Given the description of an element on the screen output the (x, y) to click on. 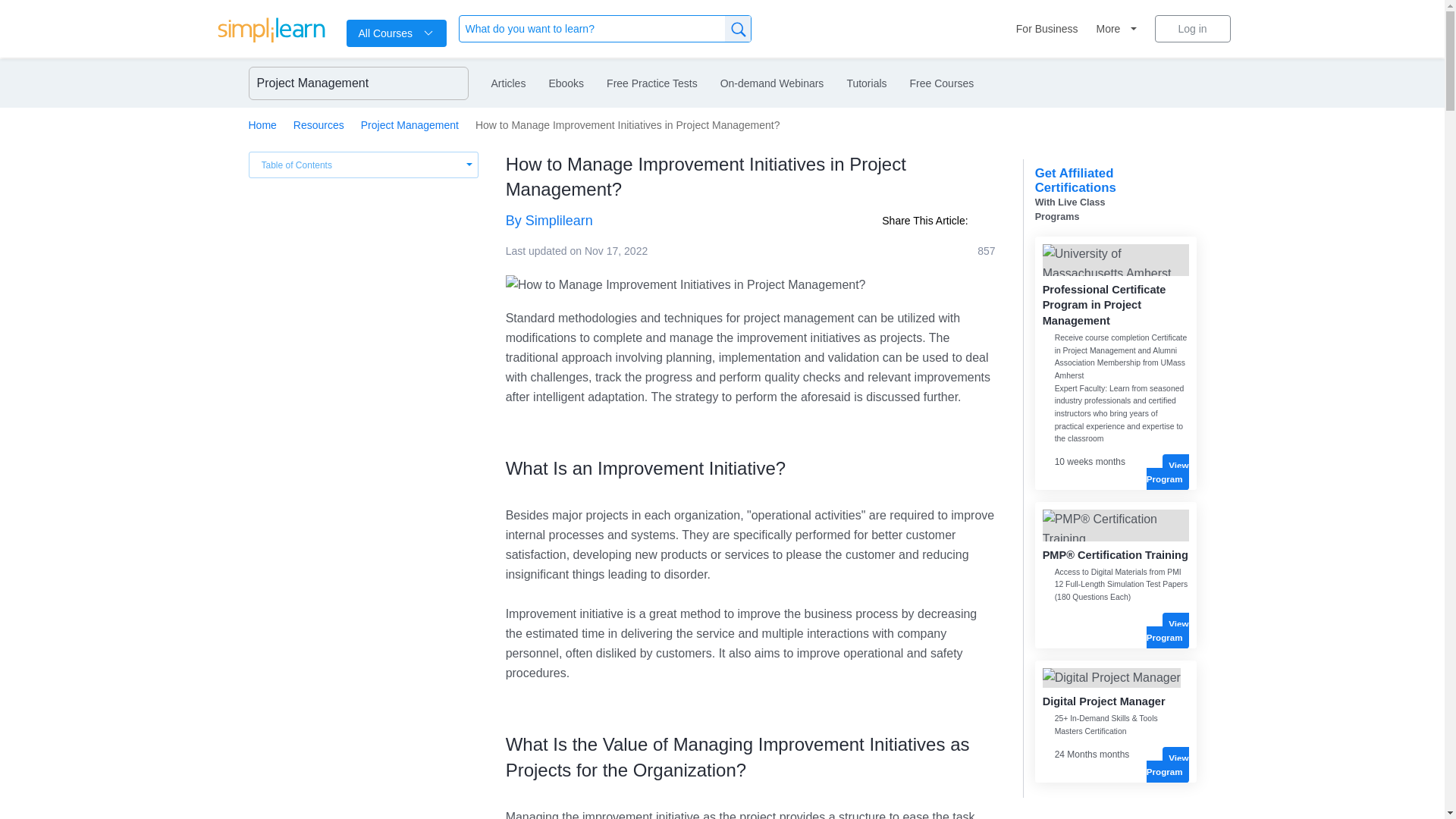
Simplilearn - Online Certification Training Course Provider (270, 32)
Home (262, 124)
Resources (318, 124)
On-demand Webinars (772, 82)
How to Manage Improvement Initiatives in Project Management? (685, 284)
Ebooks (565, 82)
Simplilearn for Business (1047, 28)
All Courses (395, 32)
Project Management (409, 124)
Free Practice Tests (652, 82)
search (738, 28)
Articles (508, 82)
Tutorials (865, 82)
Copy (984, 220)
Log in (1192, 28)
